Given the description of an element on the screen output the (x, y) to click on. 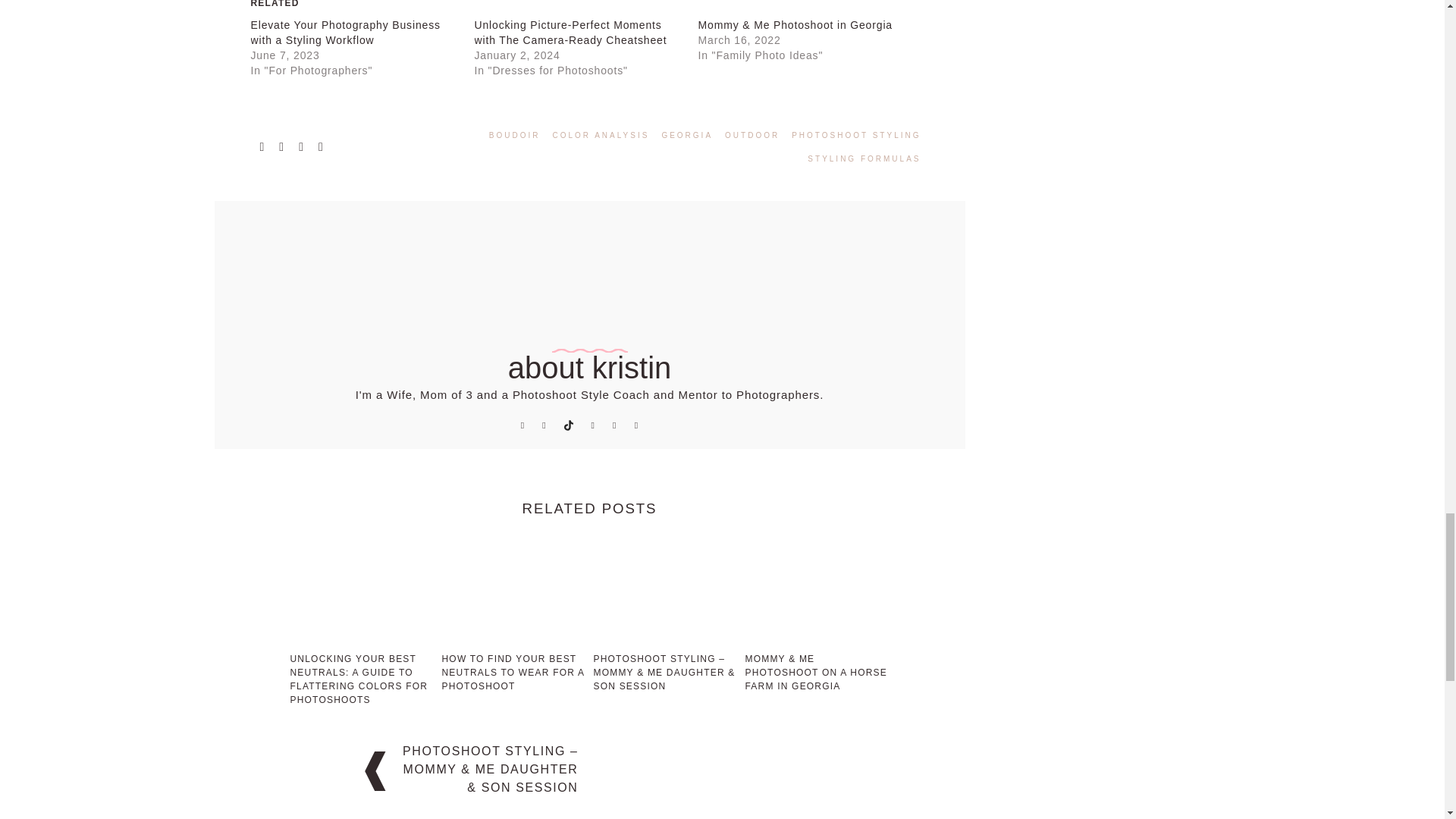
Elevate Your Photography Business with a Styling Workflow (344, 31)
